Given the description of an element on the screen output the (x, y) to click on. 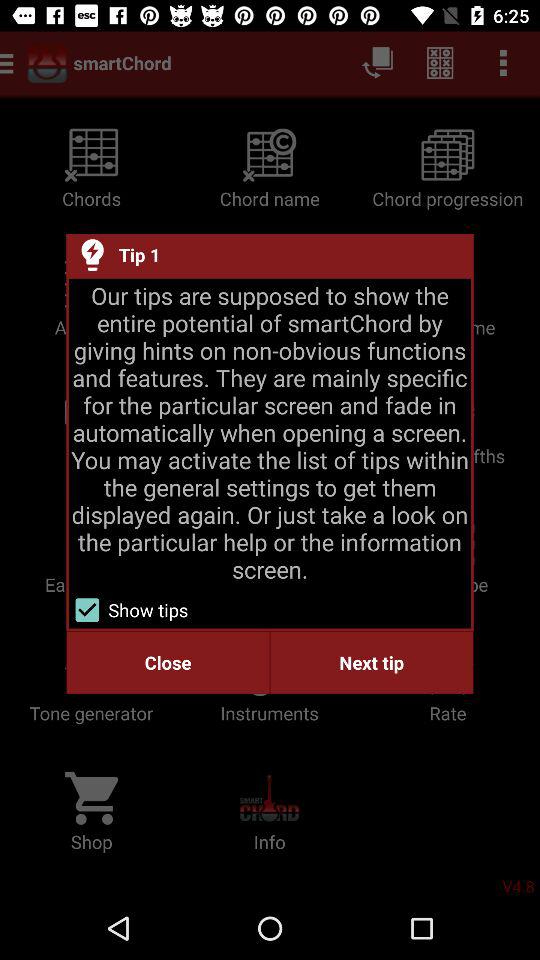
press the icon to the left of the next tip (168, 662)
